Given the description of an element on the screen output the (x, y) to click on. 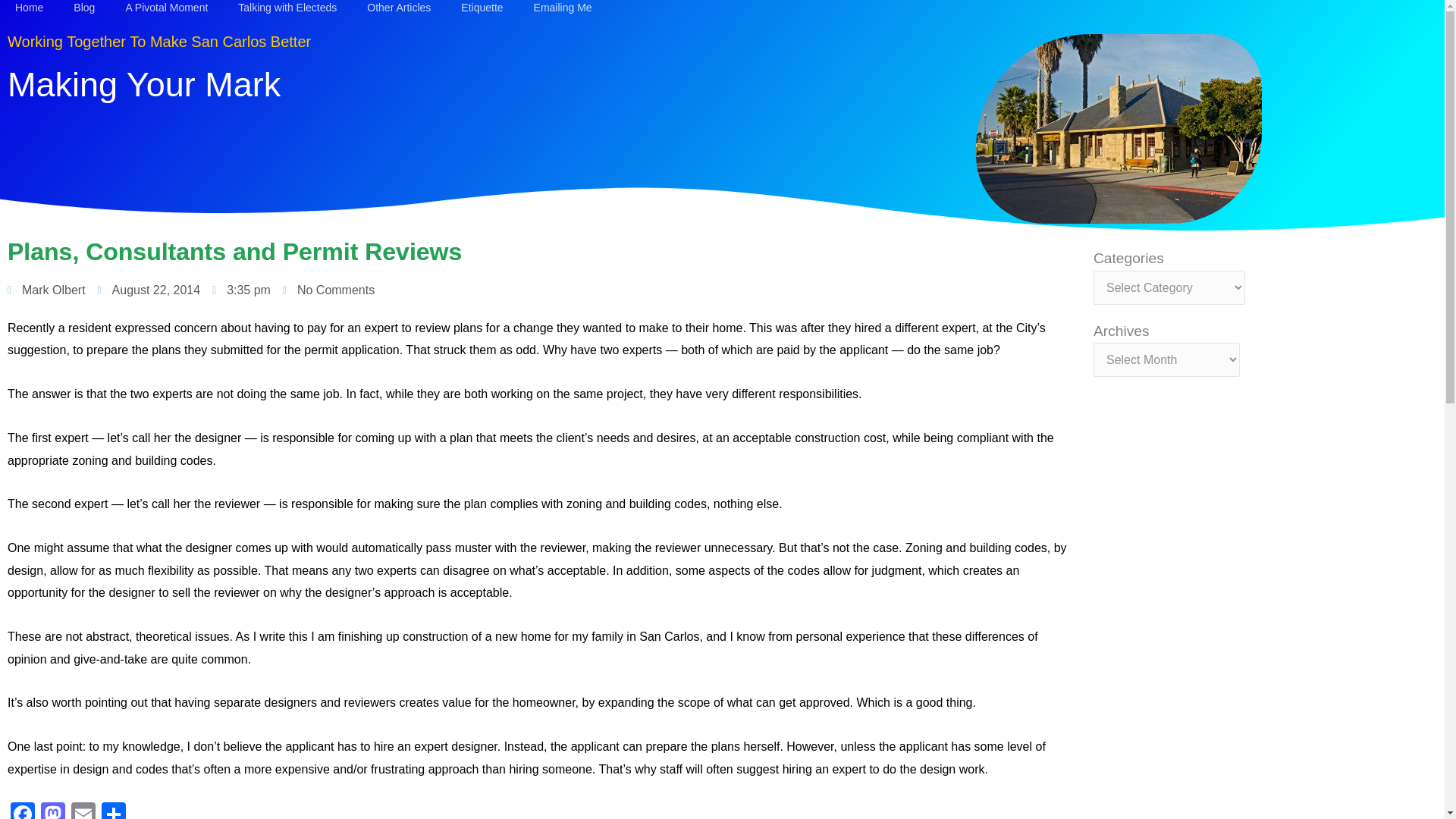
August 22, 2014 (148, 290)
Making Your Mark (144, 84)
Blog (84, 7)
Etiquette (481, 7)
Emailing Me (562, 7)
Mastodon (52, 810)
Email (83, 810)
Talking with Electeds (287, 7)
Other Articles (398, 7)
Email (83, 810)
No Comments (328, 290)
Mark Olbert (46, 290)
A Pivotal Moment (166, 7)
Facebook (22, 810)
Facebook (22, 810)
